Given the description of an element on the screen output the (x, y) to click on. 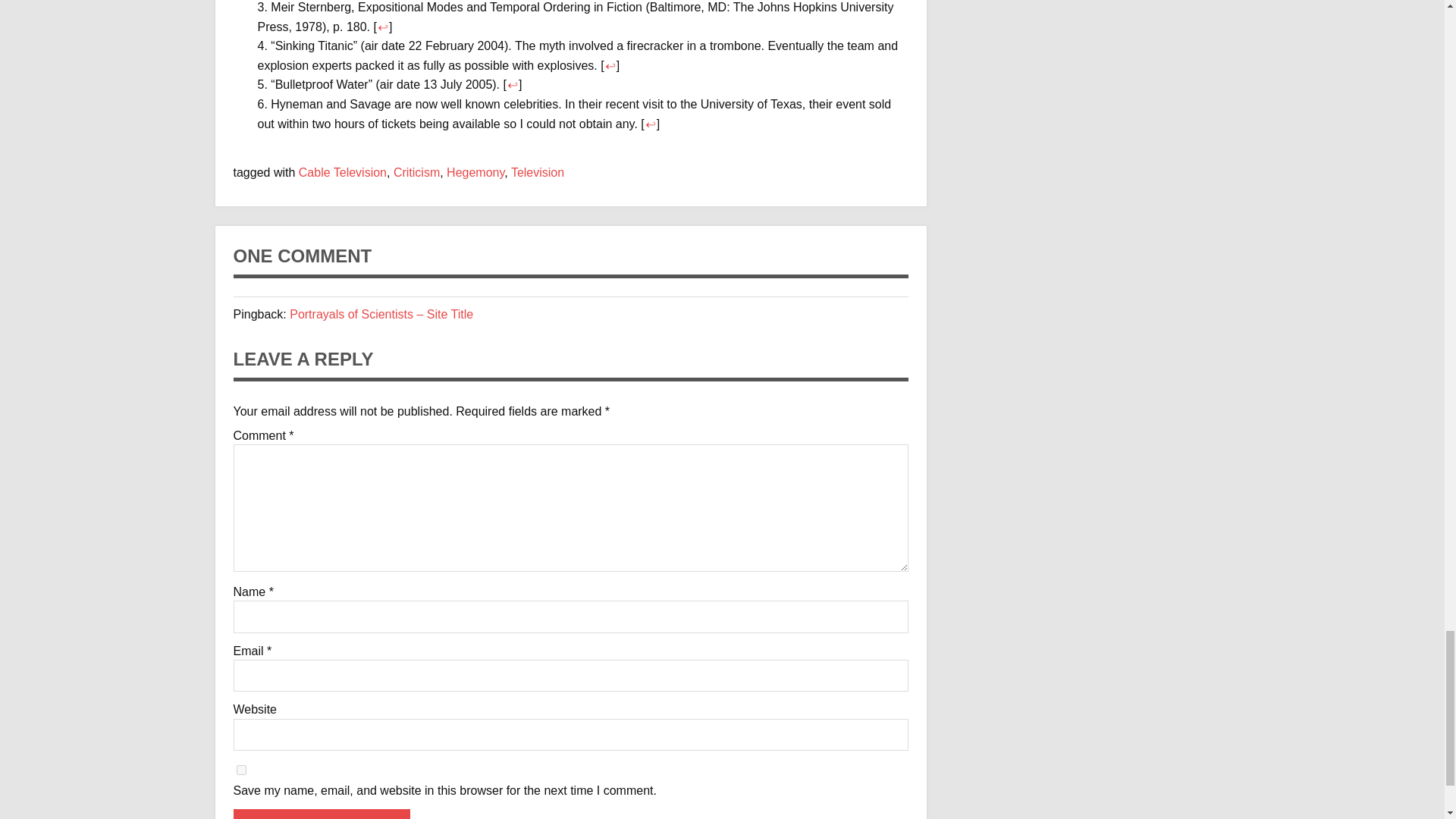
Cable Television (342, 172)
yes (240, 769)
Hegemony (474, 172)
Television (537, 172)
Criticism (416, 172)
Post Comment (321, 814)
Post Comment (321, 814)
